Given the description of an element on the screen output the (x, y) to click on. 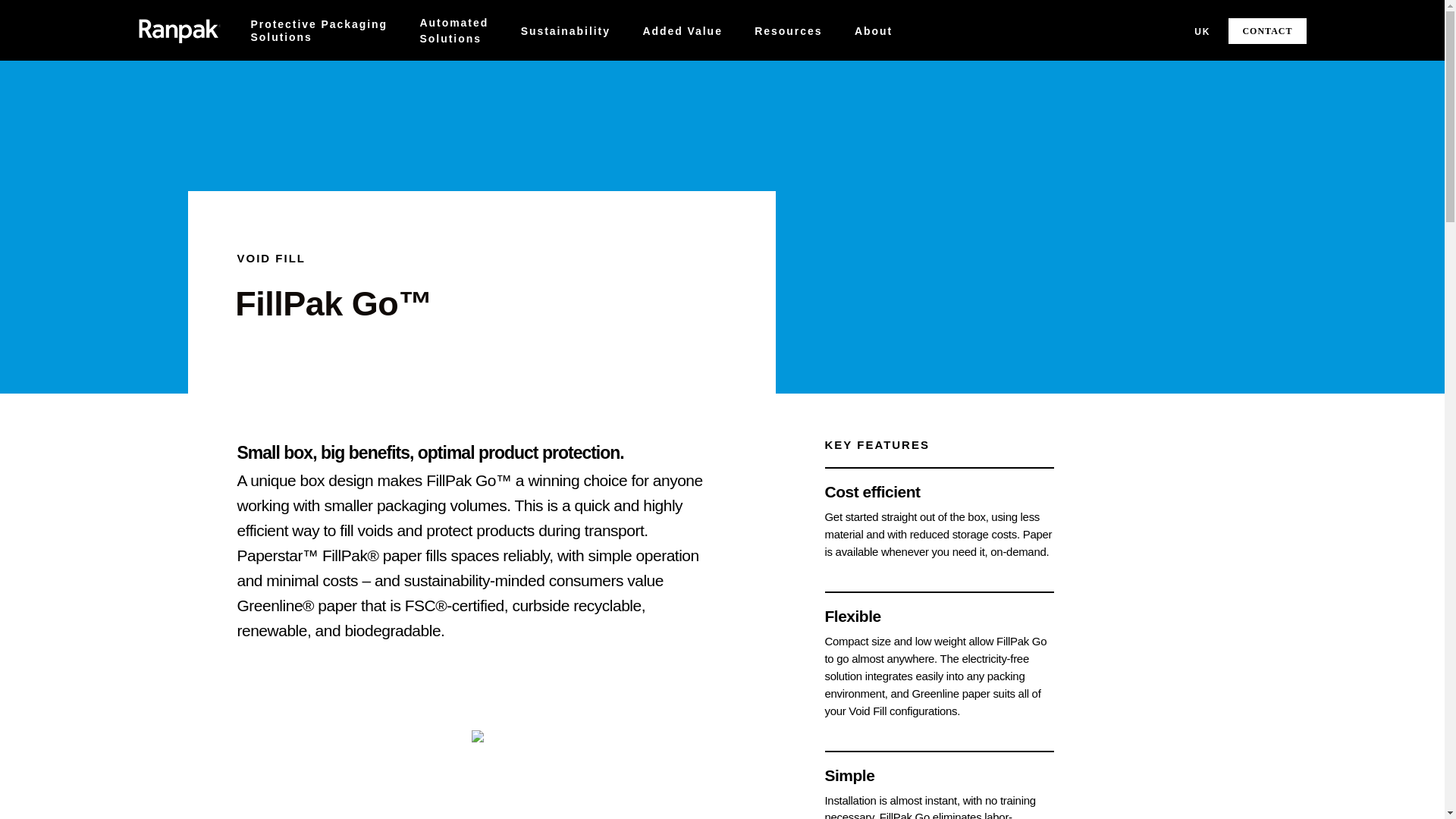
By Application (320, 74)
Cold Chain Testing (710, 68)
Package Engineering (716, 68)
Box Forming (473, 68)
Right Sized Packaging (497, 68)
Customized Solutions (454, 30)
Box Closing (717, 68)
Sustainability (318, 31)
Knowledge Center (618, 68)
Added Value (565, 30)
Resources (835, 74)
By Industry (682, 30)
By Need (788, 30)
